Given the description of an element on the screen output the (x, y) to click on. 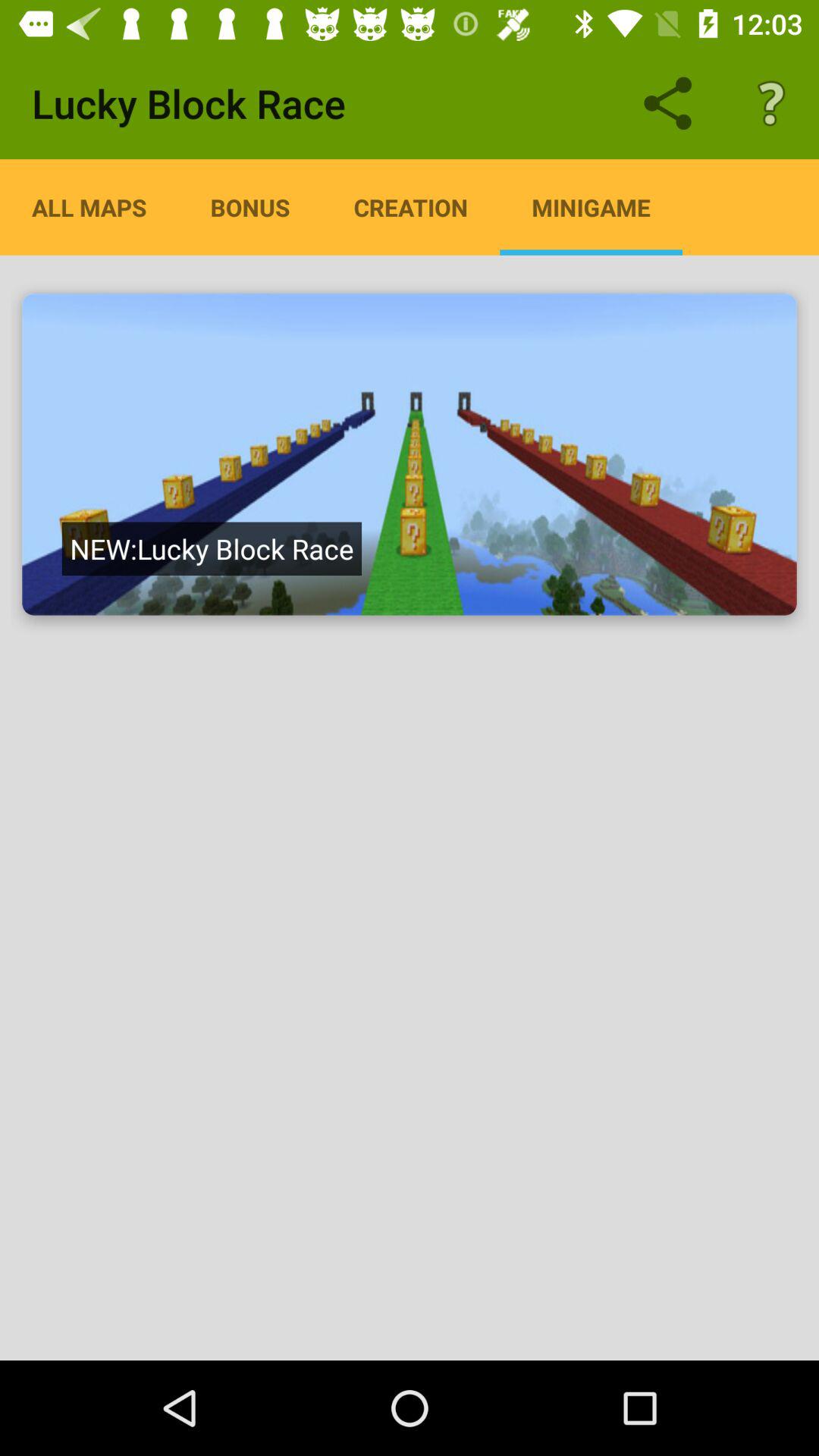
select the item next to bonus icon (89, 207)
